Given the description of an element on the screen output the (x, y) to click on. 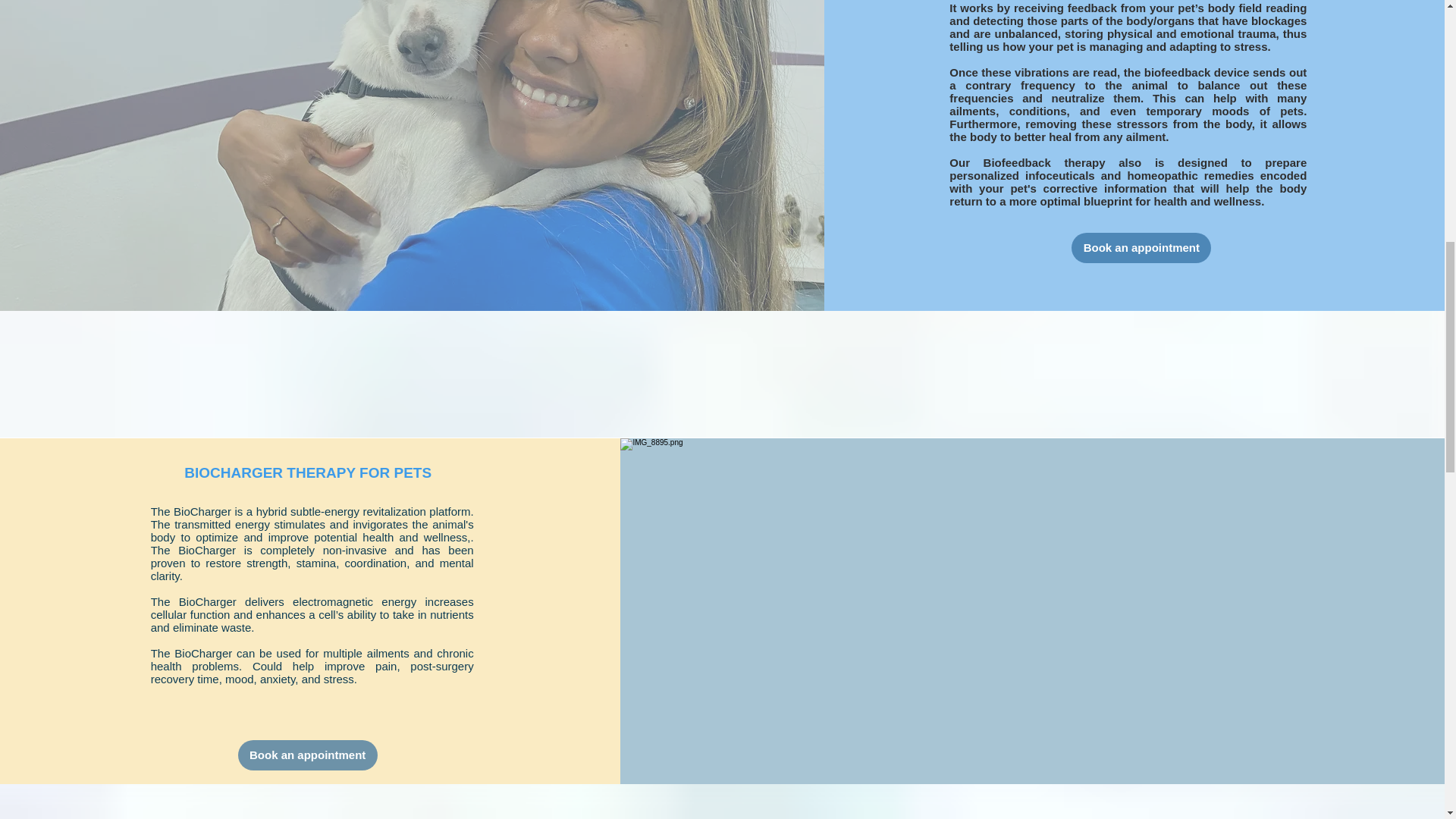
Book an appointment (1141, 247)
